Given the description of an element on the screen output the (x, y) to click on. 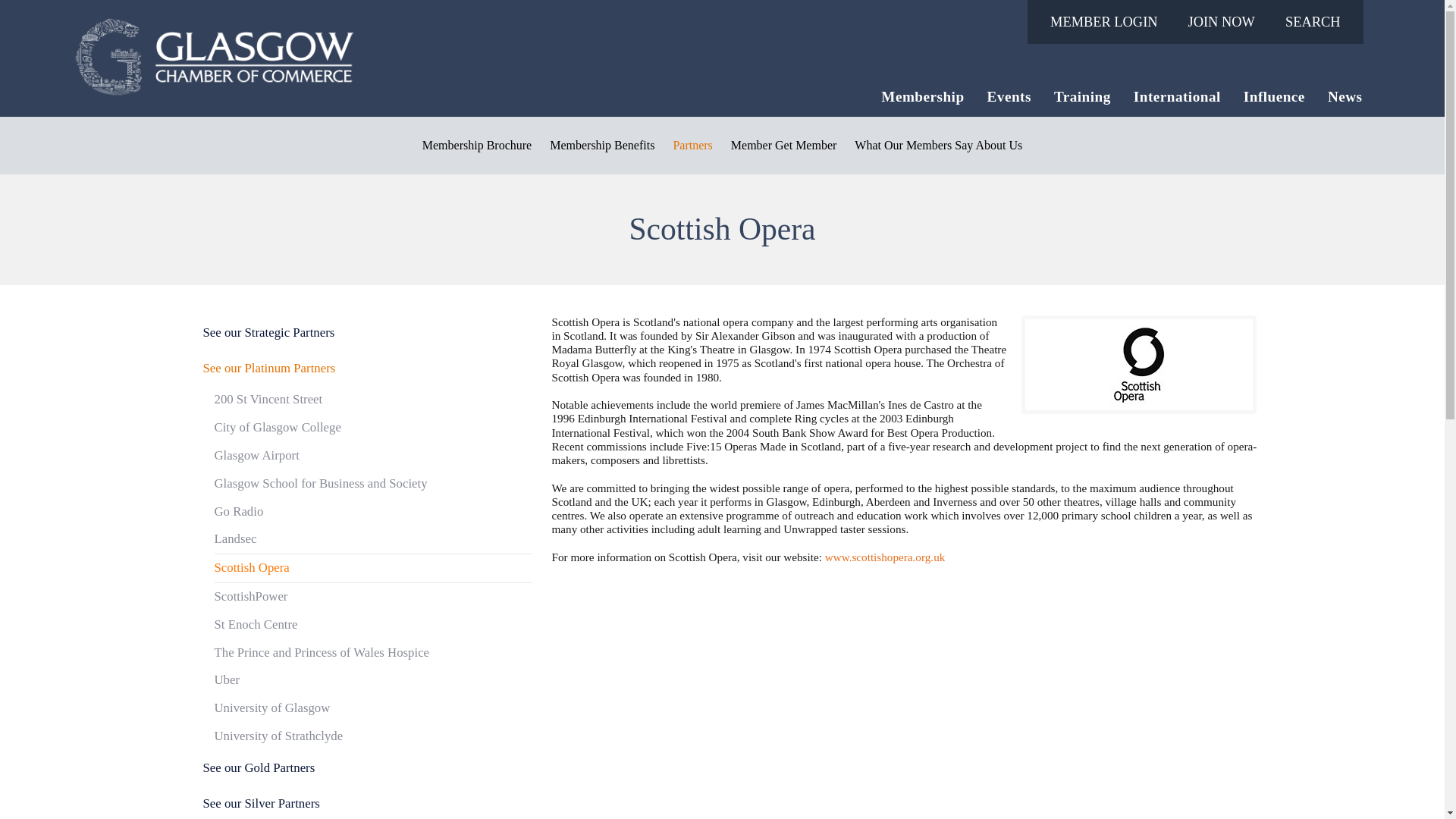
Glasgow Airport (373, 456)
200 St Vincent Street (373, 399)
News (1345, 96)
City of Glasgow College (373, 428)
University of Strathclyde (373, 736)
The Prince and Princess of Wales Hospice (373, 653)
ScottishPower (373, 596)
See our Platinum Partners (361, 368)
See our Silver Partners (361, 802)
SEARCH (1315, 22)
